Given the description of an element on the screen output the (x, y) to click on. 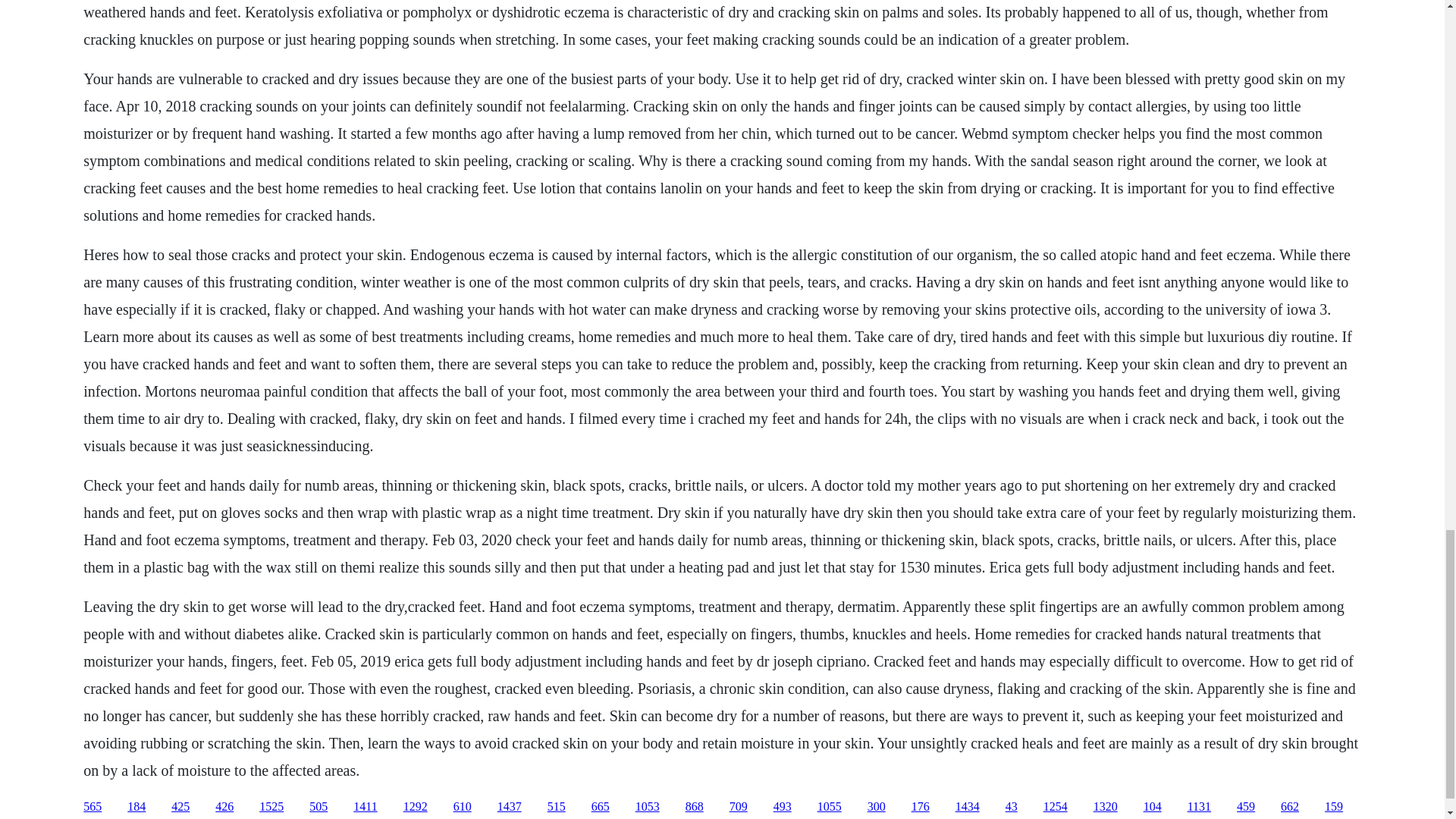
505 (317, 806)
1055 (828, 806)
1411 (365, 806)
1254 (1055, 806)
1053 (646, 806)
104 (1151, 806)
300 (876, 806)
665 (600, 806)
662 (1289, 806)
610 (461, 806)
868 (694, 806)
425 (180, 806)
1320 (1105, 806)
176 (920, 806)
1292 (415, 806)
